Given the description of an element on the screen output the (x, y) to click on. 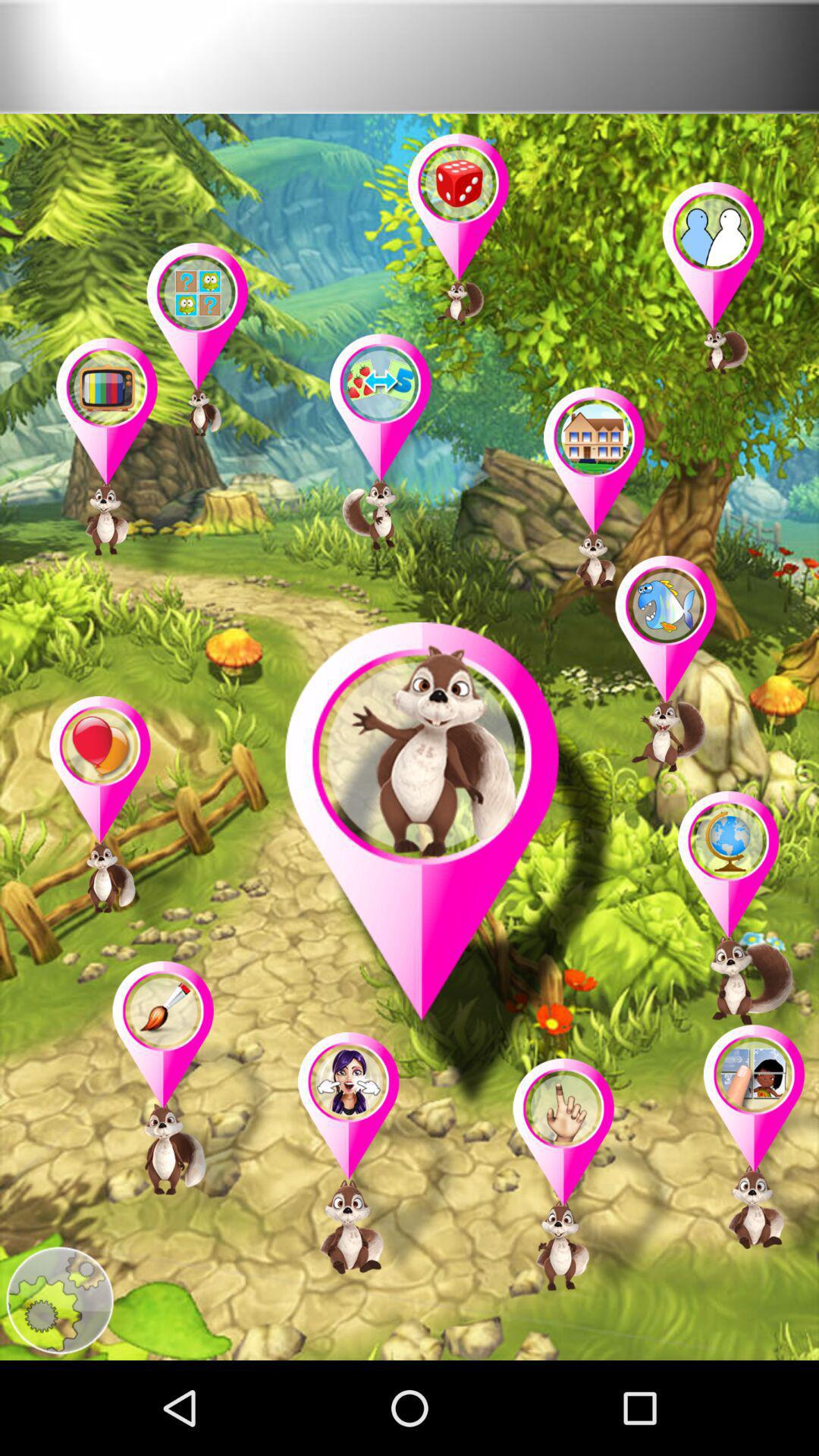
go to indicate (697, 680)
